Given the description of an element on the screen output the (x, y) to click on. 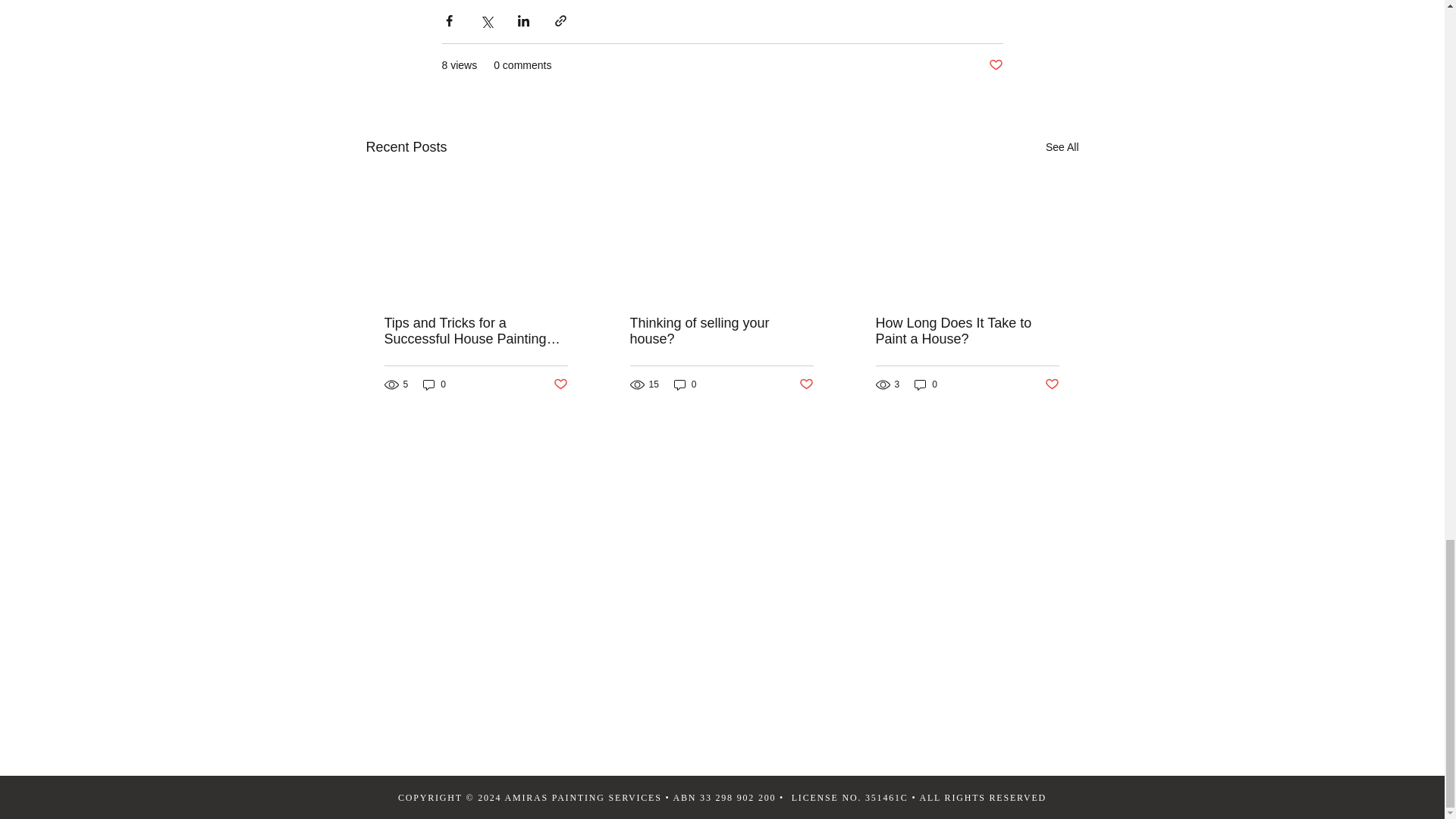
0 (685, 384)
0 (434, 384)
Thinking of selling your house? (720, 331)
Post not marked as liked (995, 65)
Post not marked as liked (560, 384)
Post not marked as liked (806, 384)
Tips and Tricks for a Successful House Painting Project (475, 331)
See All (1061, 147)
